Given the description of an element on the screen output the (x, y) to click on. 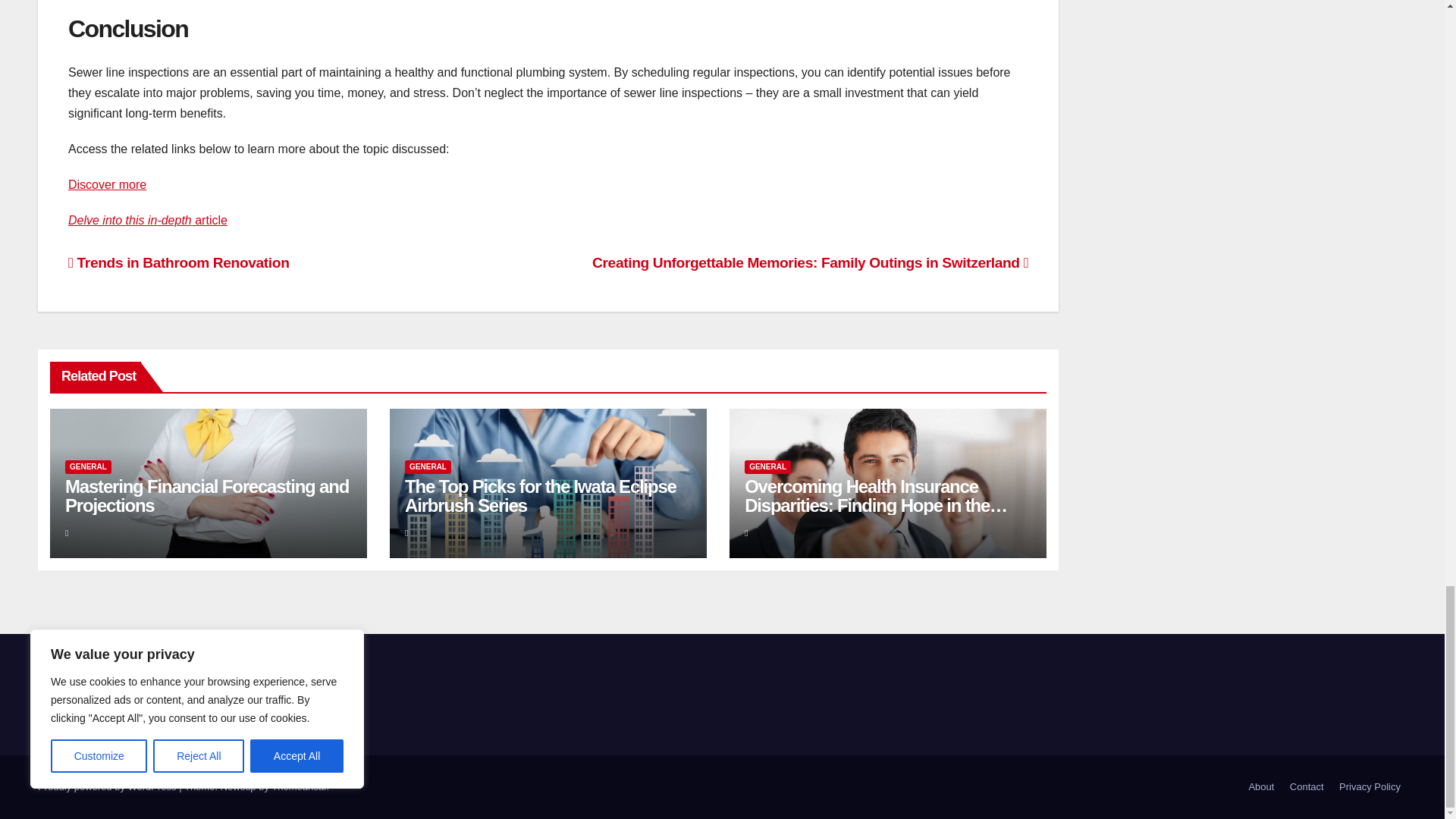
GENERAL (427, 467)
Trends in Bathroom Renovation (178, 262)
The Top Picks for the Iwata Eclipse Airbrush Series (540, 495)
Delve into this in-depth article (147, 219)
Mastering Financial Forecasting and Projections (207, 495)
GENERAL (88, 467)
GENERAL (767, 467)
